Given the description of an element on the screen output the (x, y) to click on. 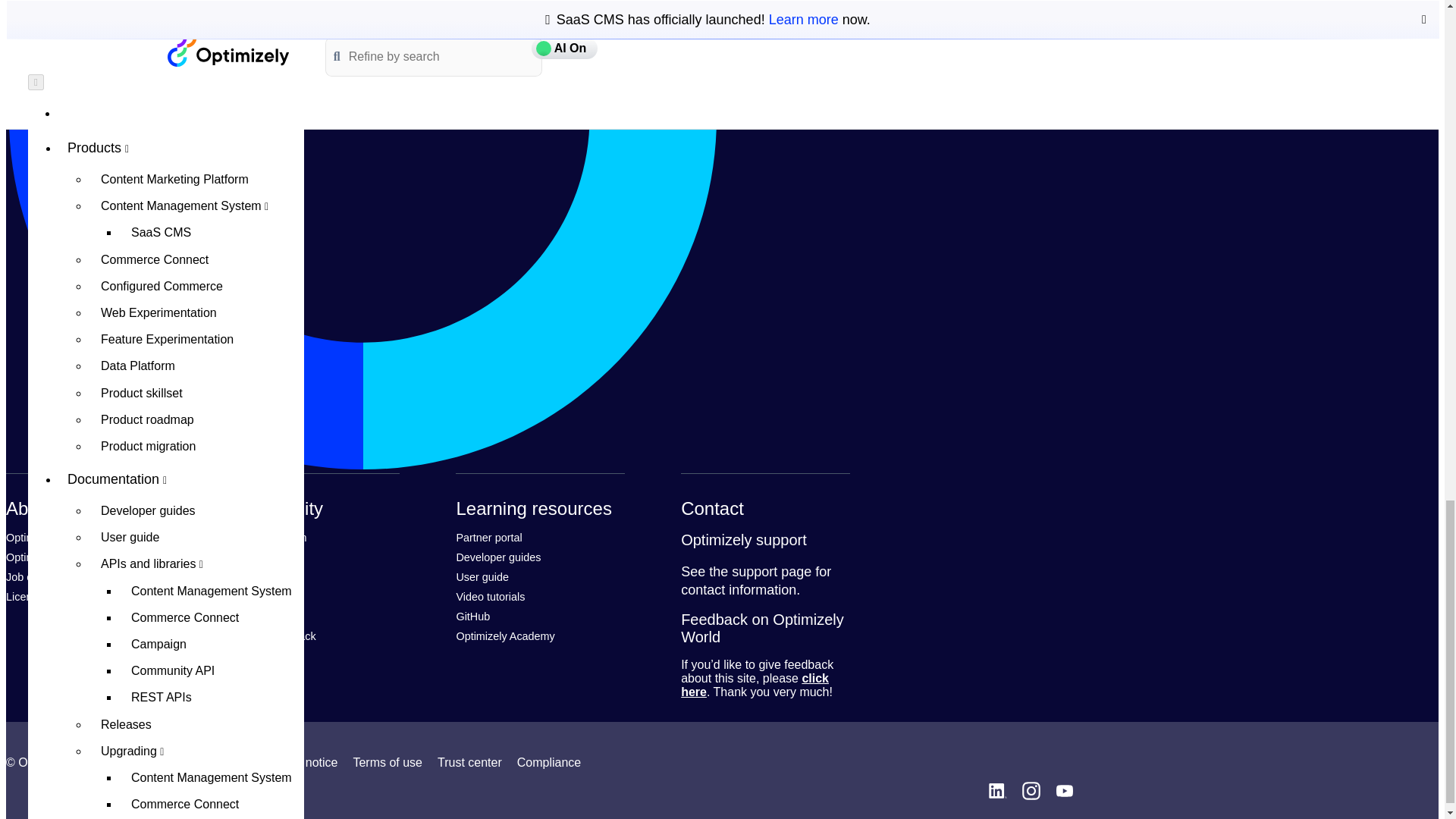
Optimizely Certification (60, 557)
Job openings (38, 576)
episerver.com (42, 537)
Slack (244, 616)
Blogs (245, 596)
Optimizely Partner Portal (488, 537)
Developer guides (497, 557)
OMVP program (269, 537)
Forums (249, 576)
